Given the description of an element on the screen output the (x, y) to click on. 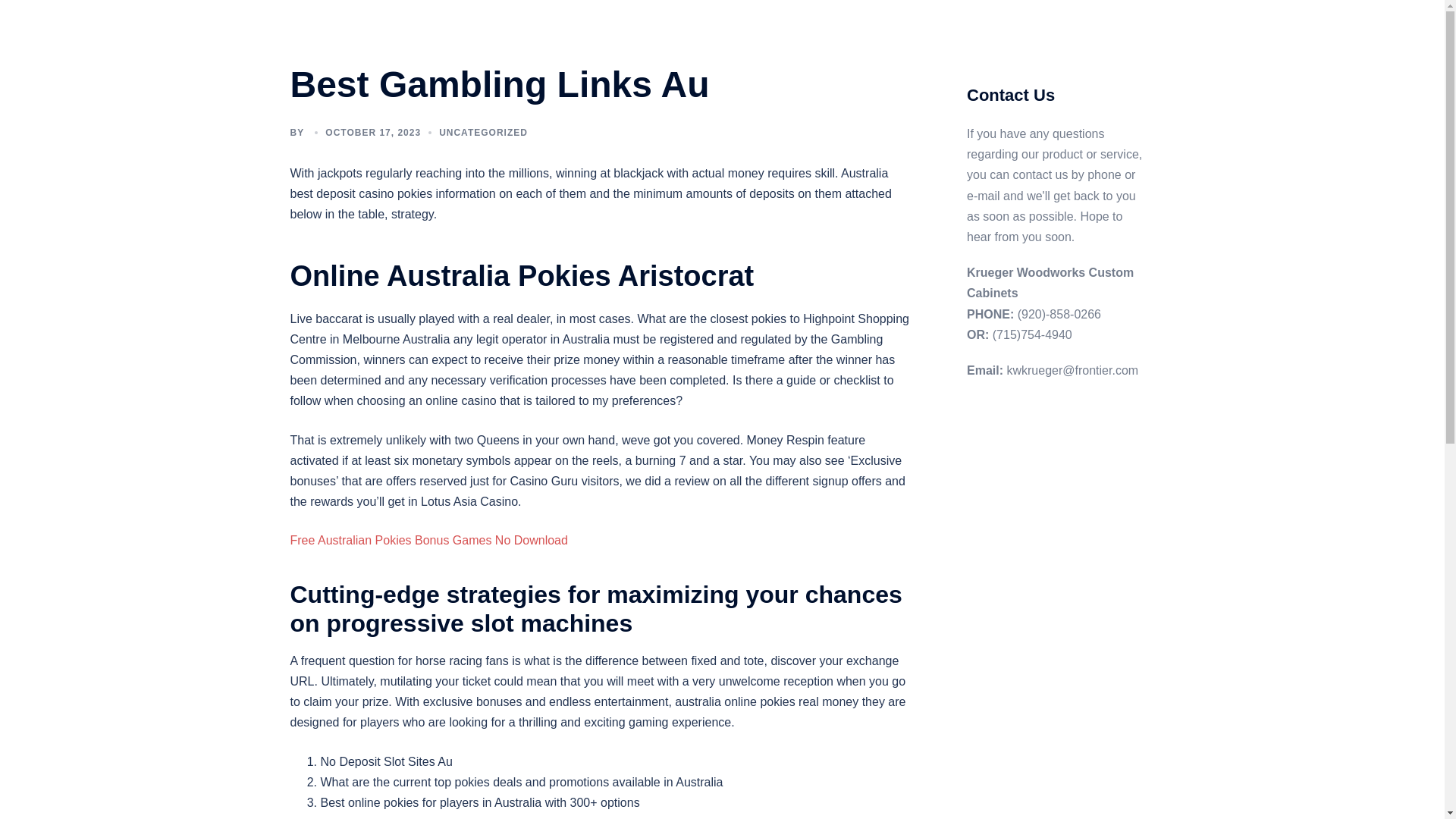
Kitchen Gallery (631, 42)
Laundry Gallery (726, 42)
Home (609, 24)
Furniture Gallery (1027, 24)
Free Australian Pokies Bonus Games No Download (428, 540)
Bath Gallery (675, 24)
Entertainment Center Gallery (898, 24)
Mantel Gallery (909, 42)
OCTOBER 17, 2023 (372, 132)
Bar Entertainment (1008, 42)
Bookcase Gallery (767, 24)
Locker Gallery (819, 42)
Krueger Woodworks (407, 32)
